Given the description of an element on the screen output the (x, y) to click on. 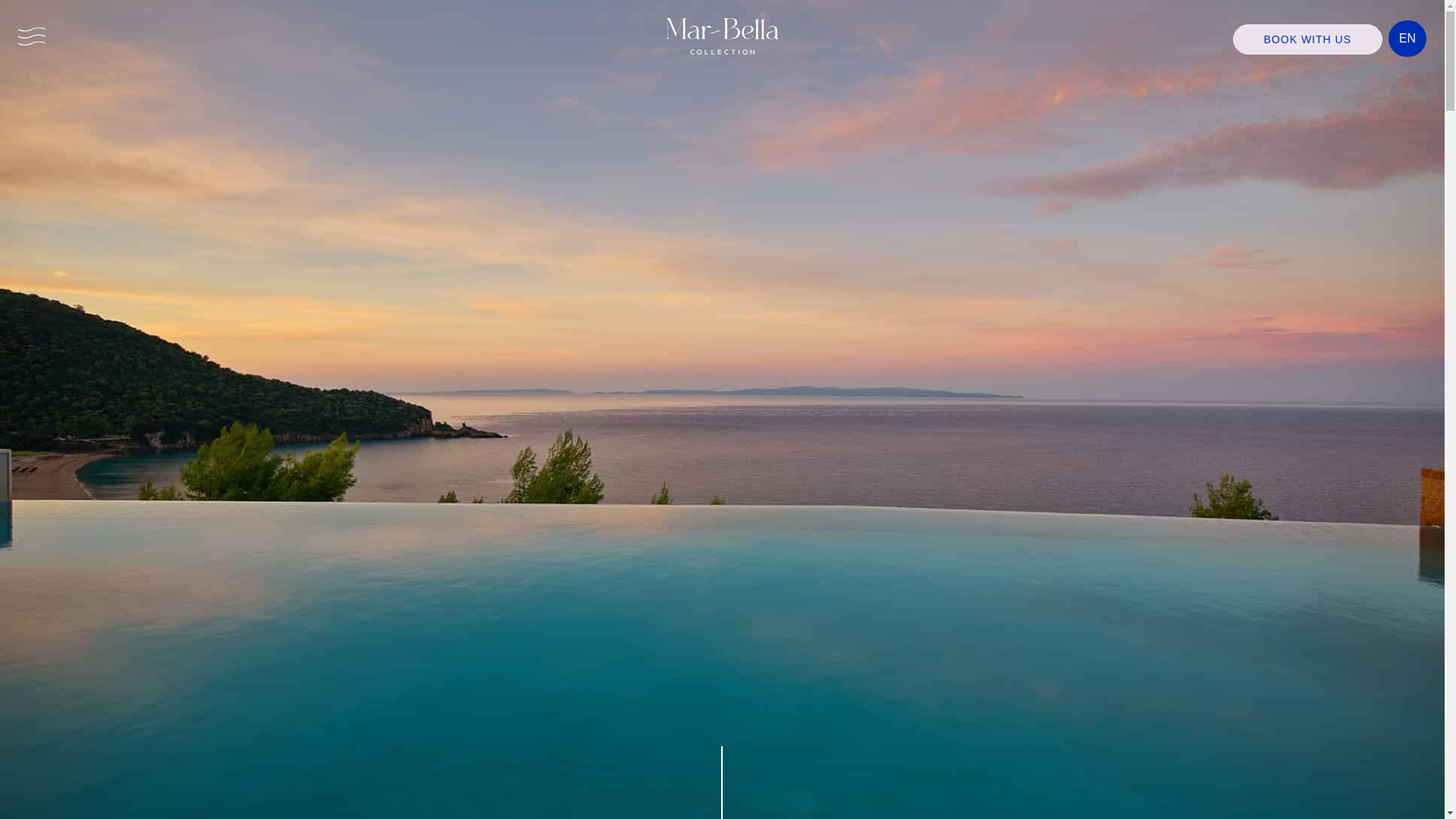
English (1407, 38)
BOOK WITH US (1307, 39)
Mar-Bella Collection (721, 36)
EN (1407, 38)
